Given the description of an element on the screen output the (x, y) to click on. 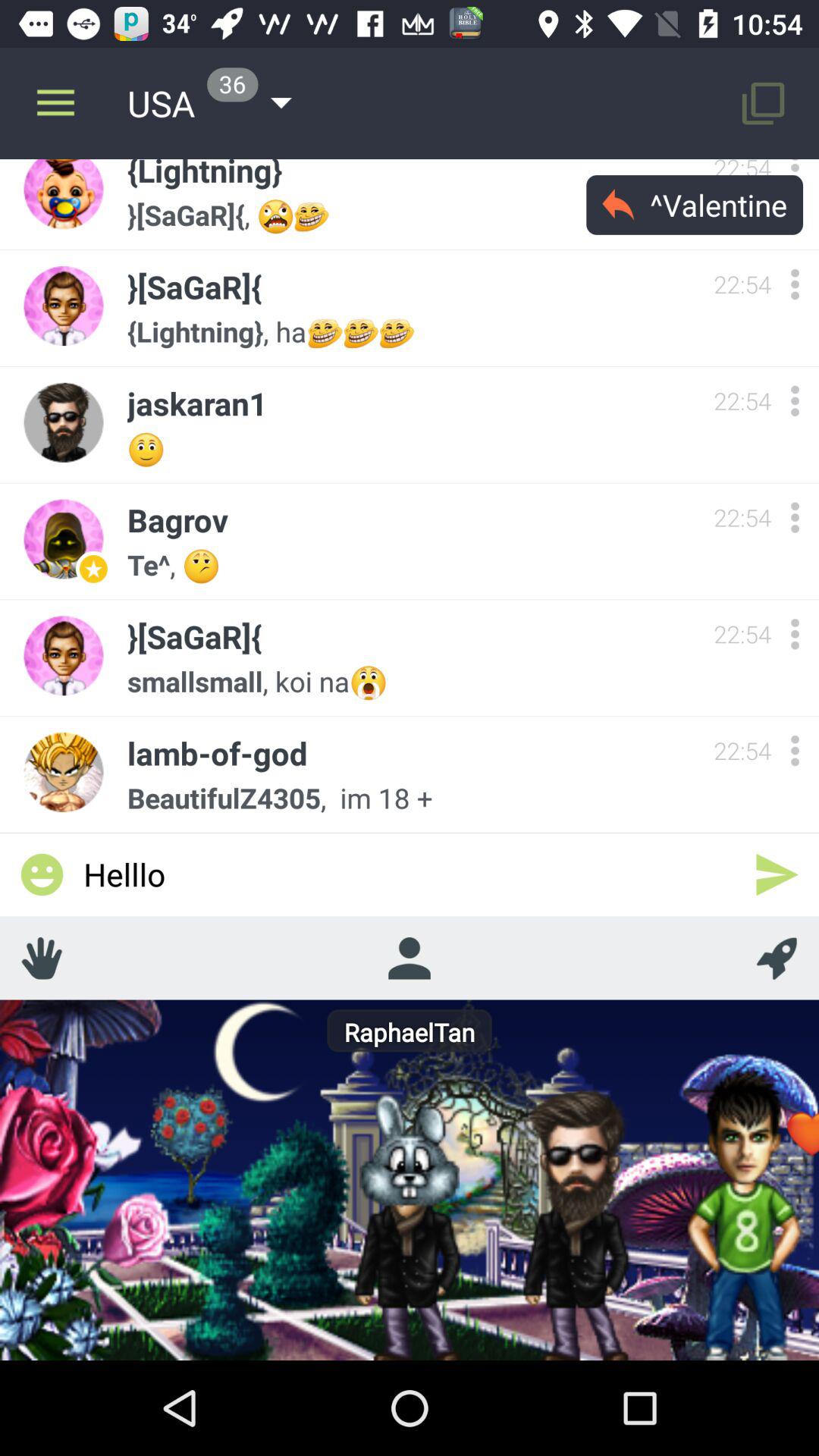
view profiles (409, 957)
